Given the description of an element on the screen output the (x, y) to click on. 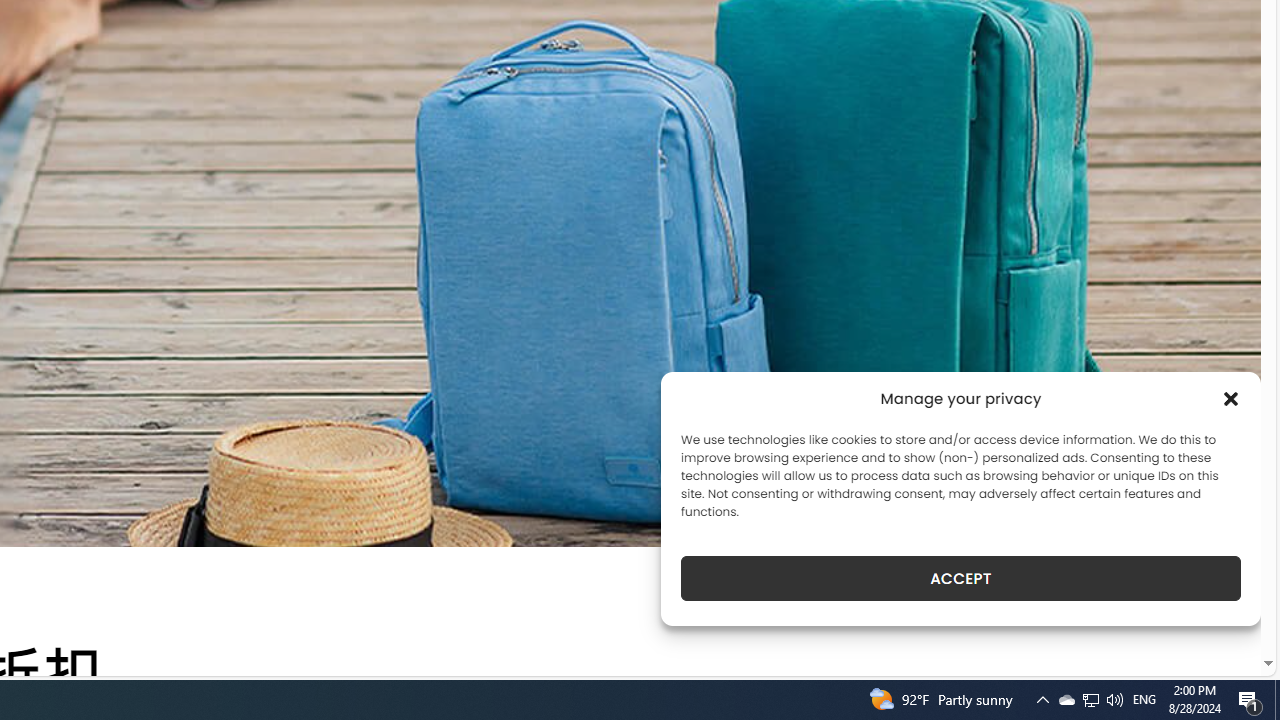
ACCEPT (960, 578)
Class: cmplz-close (1231, 398)
